Given the description of an element on the screen output the (x, y) to click on. 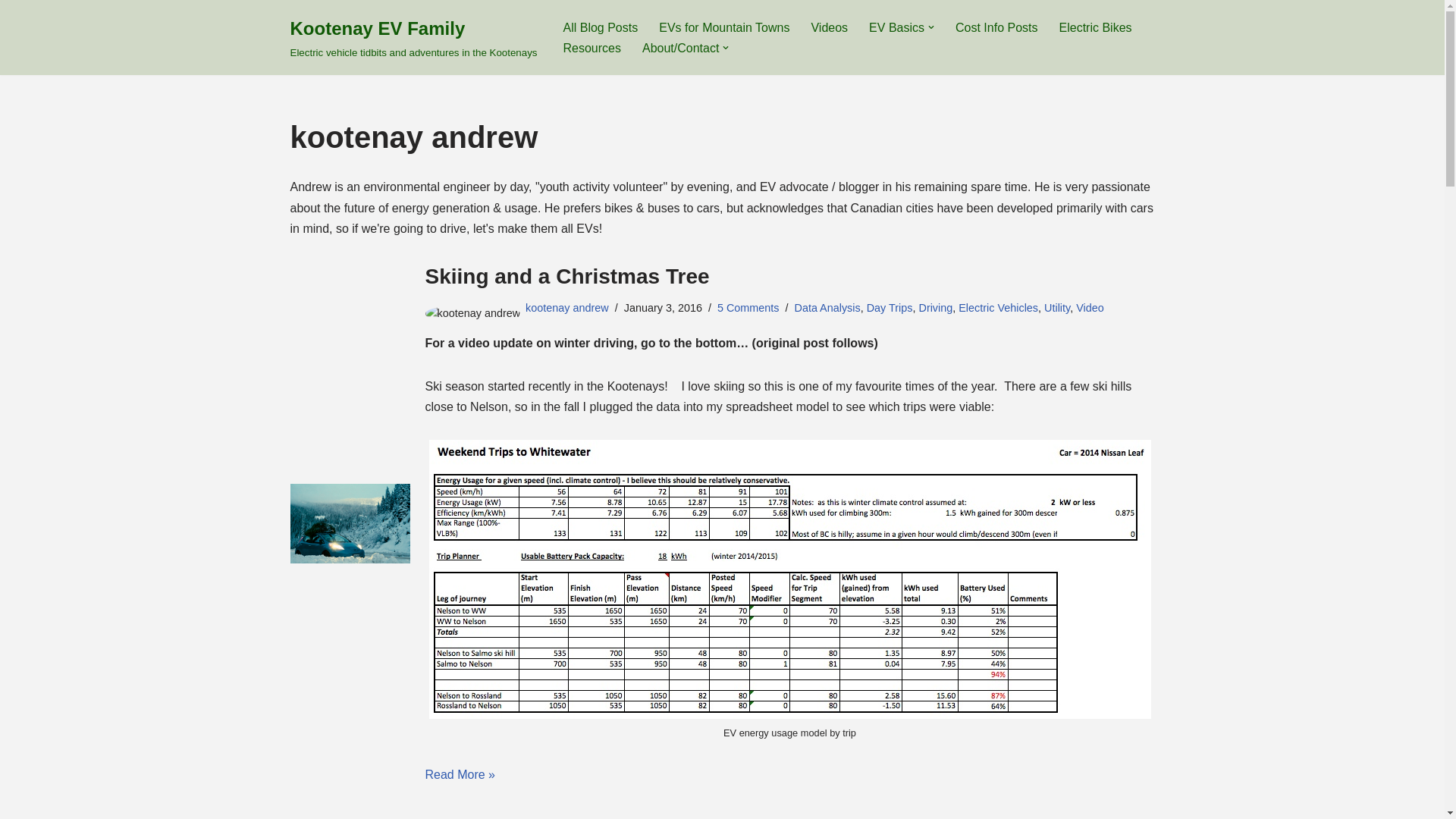
EVs for Mountain Towns (724, 27)
EV Basics (896, 27)
Data Analysis (827, 307)
Videos (828, 27)
Utility (1056, 307)
Resources (591, 47)
Electric Bikes (1095, 27)
Skiing and a Christmas Tree (567, 276)
Day Trips (889, 307)
Electric Vehicles (998, 307)
